Given the description of an element on the screen output the (x, y) to click on. 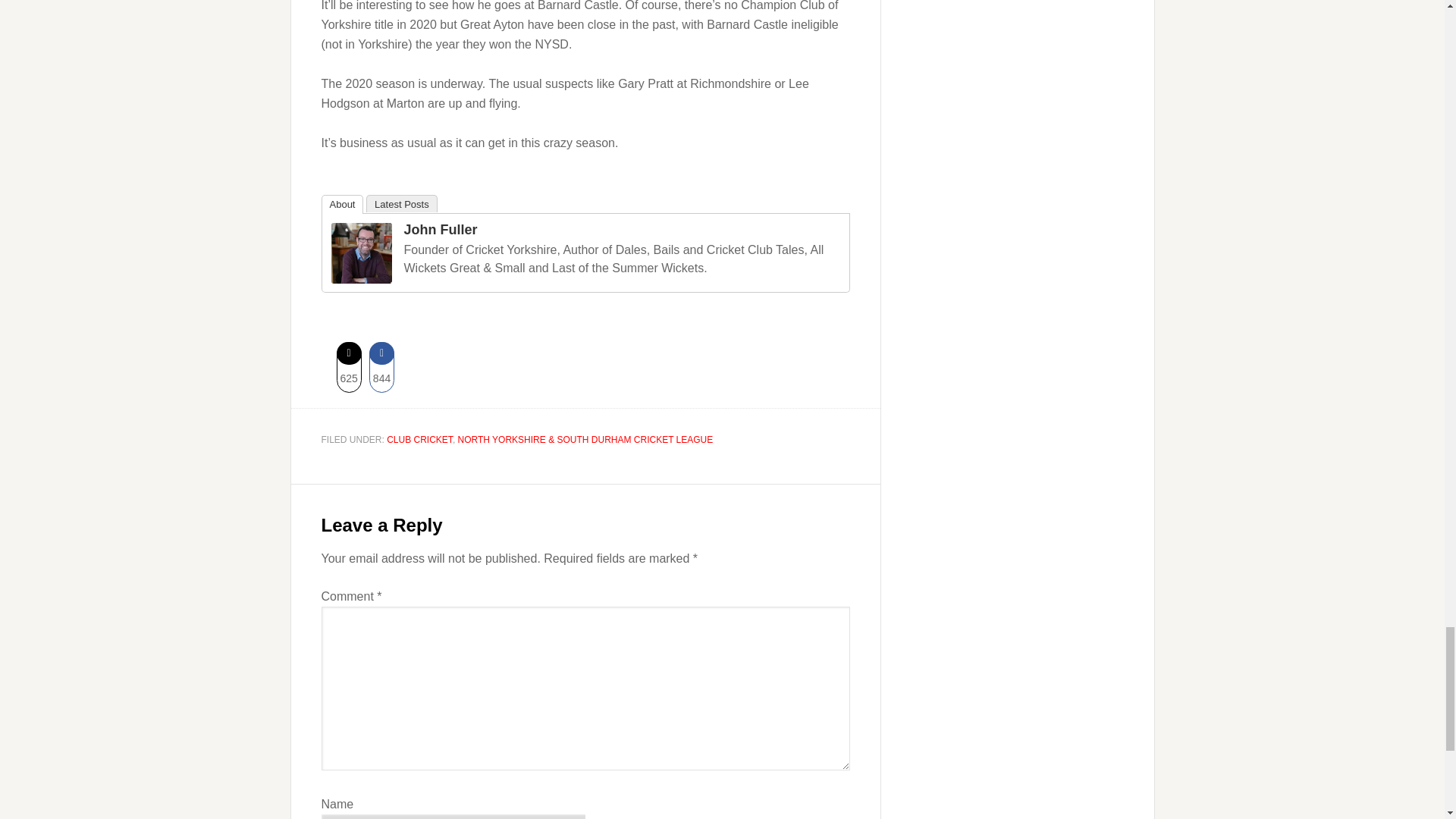
About (342, 203)
Latest Posts (402, 203)
CLUB CRICKET (419, 439)
John Fuller (440, 229)
